Given the description of an element on the screen output the (x, y) to click on. 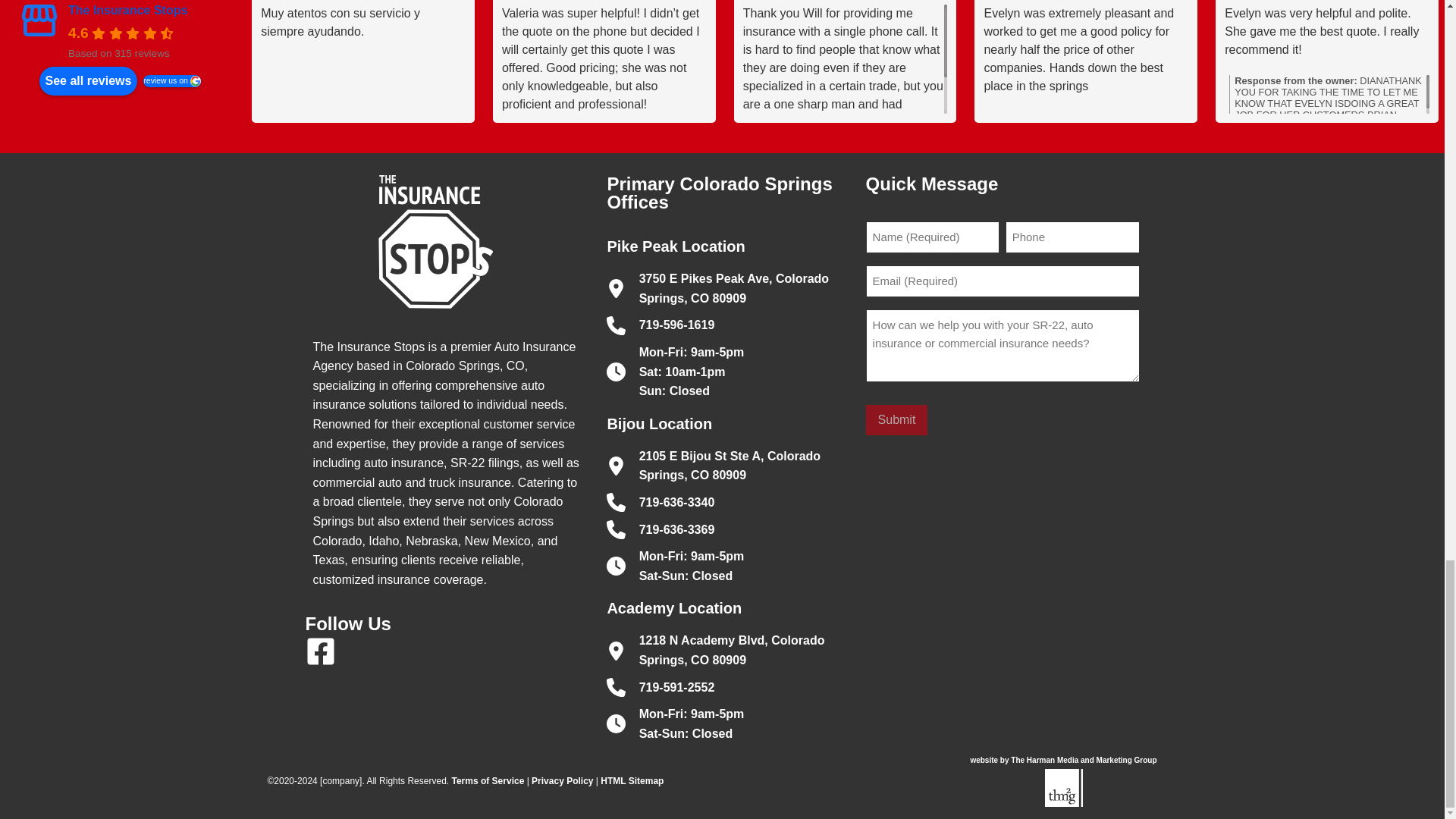
Muy atentos con su servicio y siempre ayudando. (362, 58)
The Insurance Stops (39, 20)
Submit (897, 419)
